Given the description of an element on the screen output the (x, y) to click on. 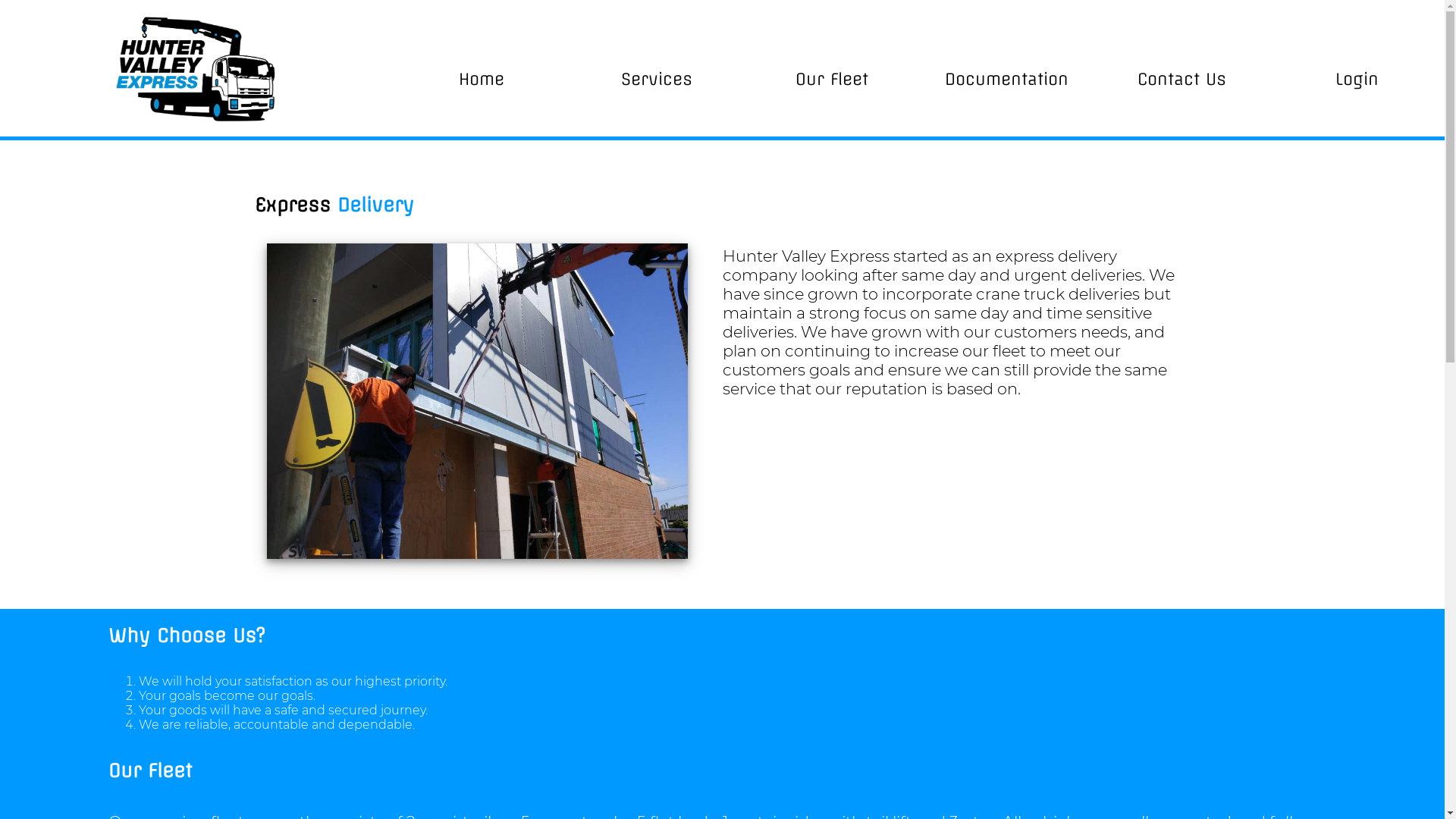
Login Element type: text (1356, 79)
Documentation Element type: text (1006, 79)
Home Element type: text (481, 79)
Contact Us Element type: text (1181, 79)
Express Delivery Element type: hover (476, 400)
Services Element type: text (656, 79)
Our Fleet Element type: text (831, 79)
Home Element type: hover (197, 68)
HVE Logo Element type: hover (196, 68)
